Given the description of an element on the screen output the (x, y) to click on. 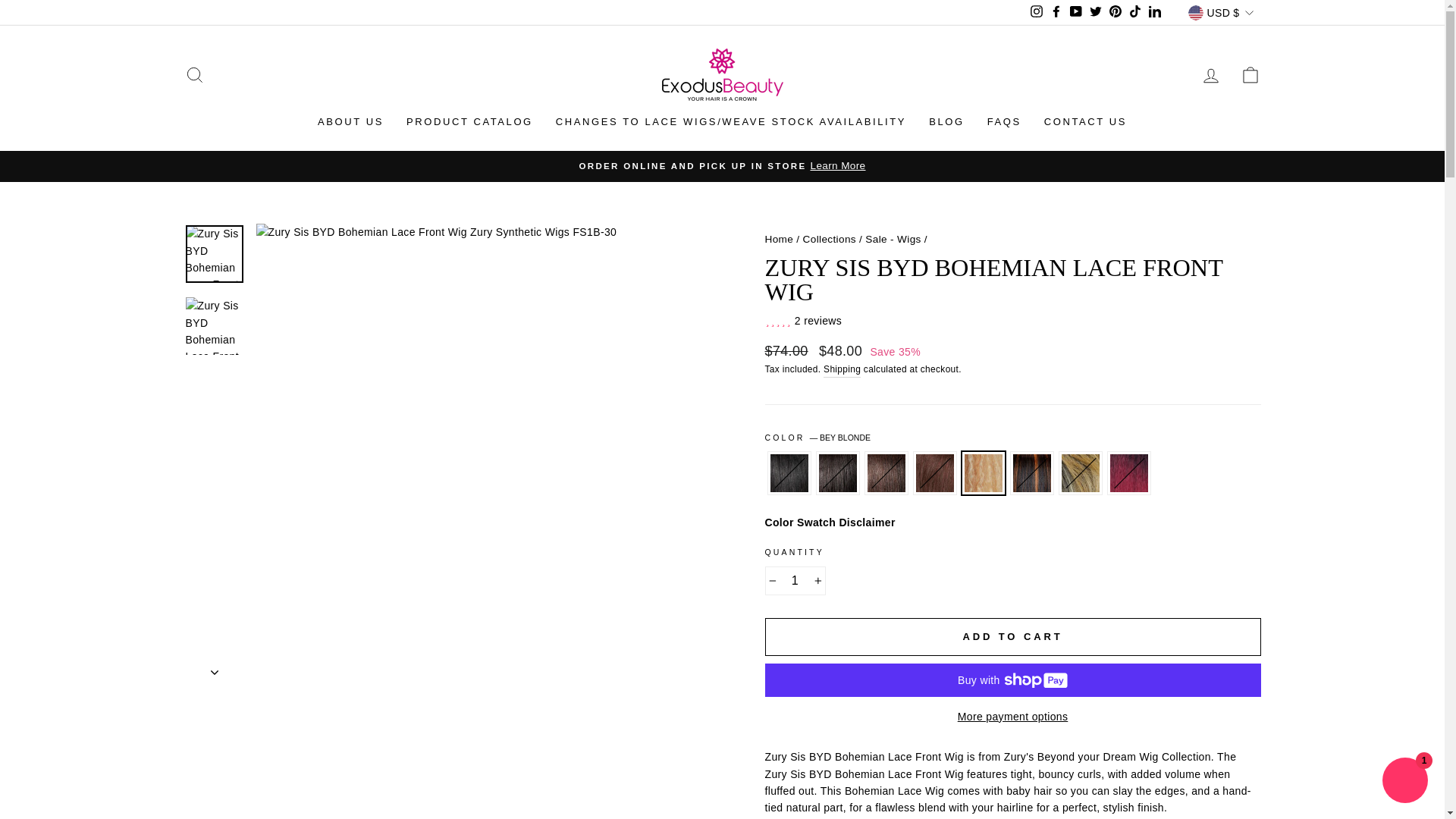
1 (794, 580)
Back to the frontpage (778, 238)
